Given the description of an element on the screen output the (x, y) to click on. 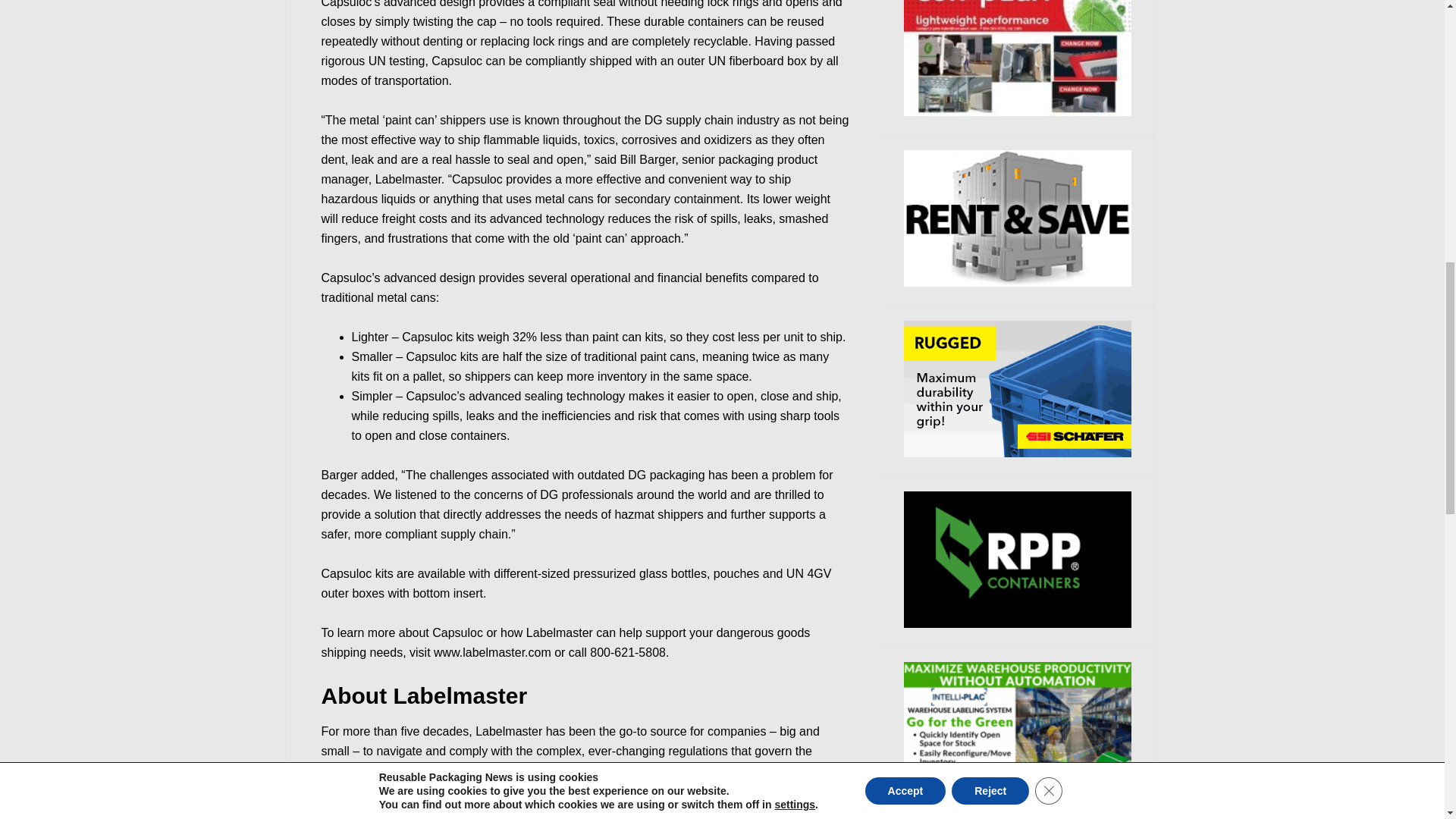
www.filmloc.com (1017, 729)
CONPearl (1017, 58)
Schaefer (1017, 389)
RPPContainers.com (1017, 559)
